Given the description of an element on the screen output the (x, y) to click on. 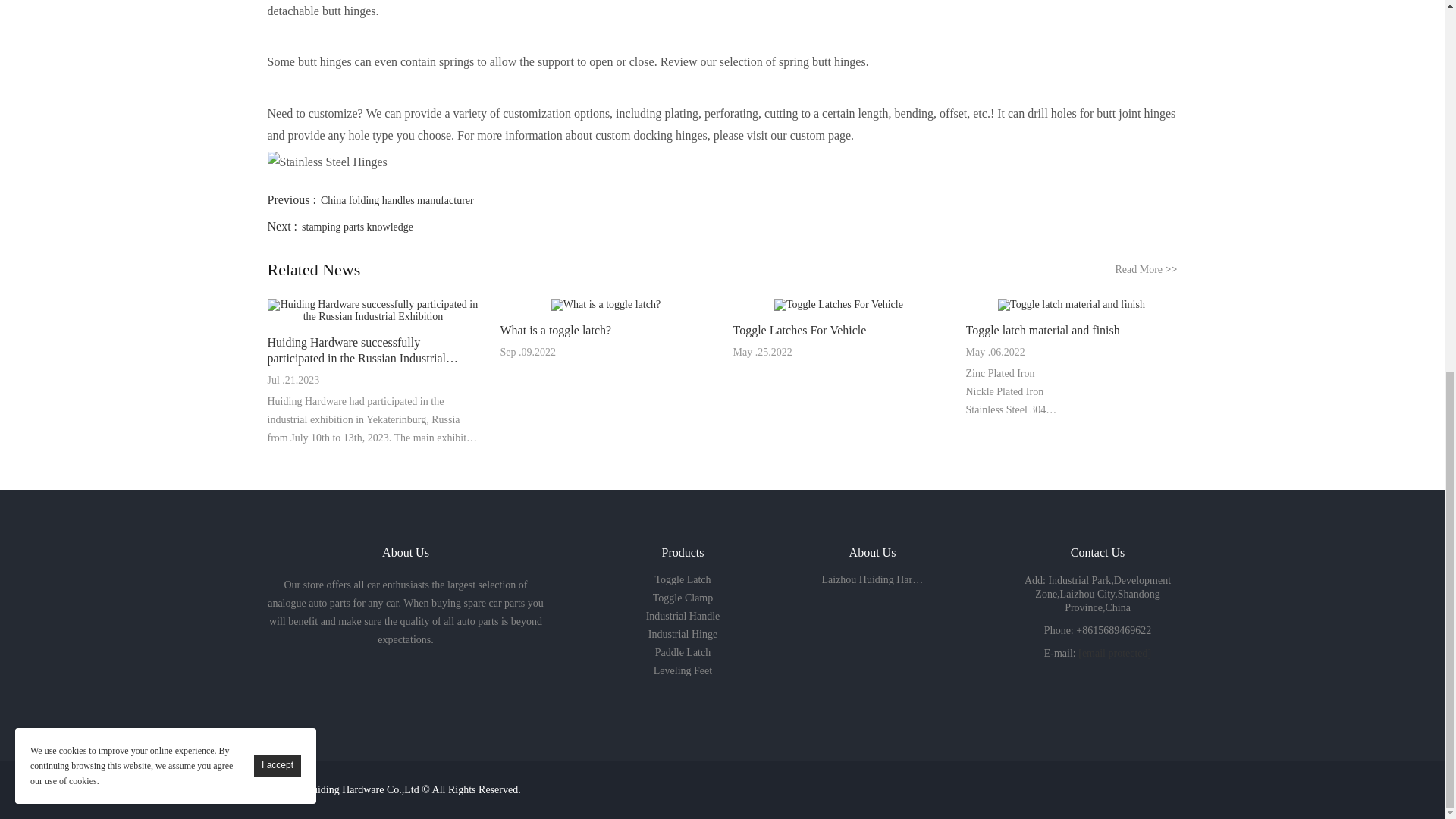
I accept (277, 86)
